Given the description of an element on the screen output the (x, y) to click on. 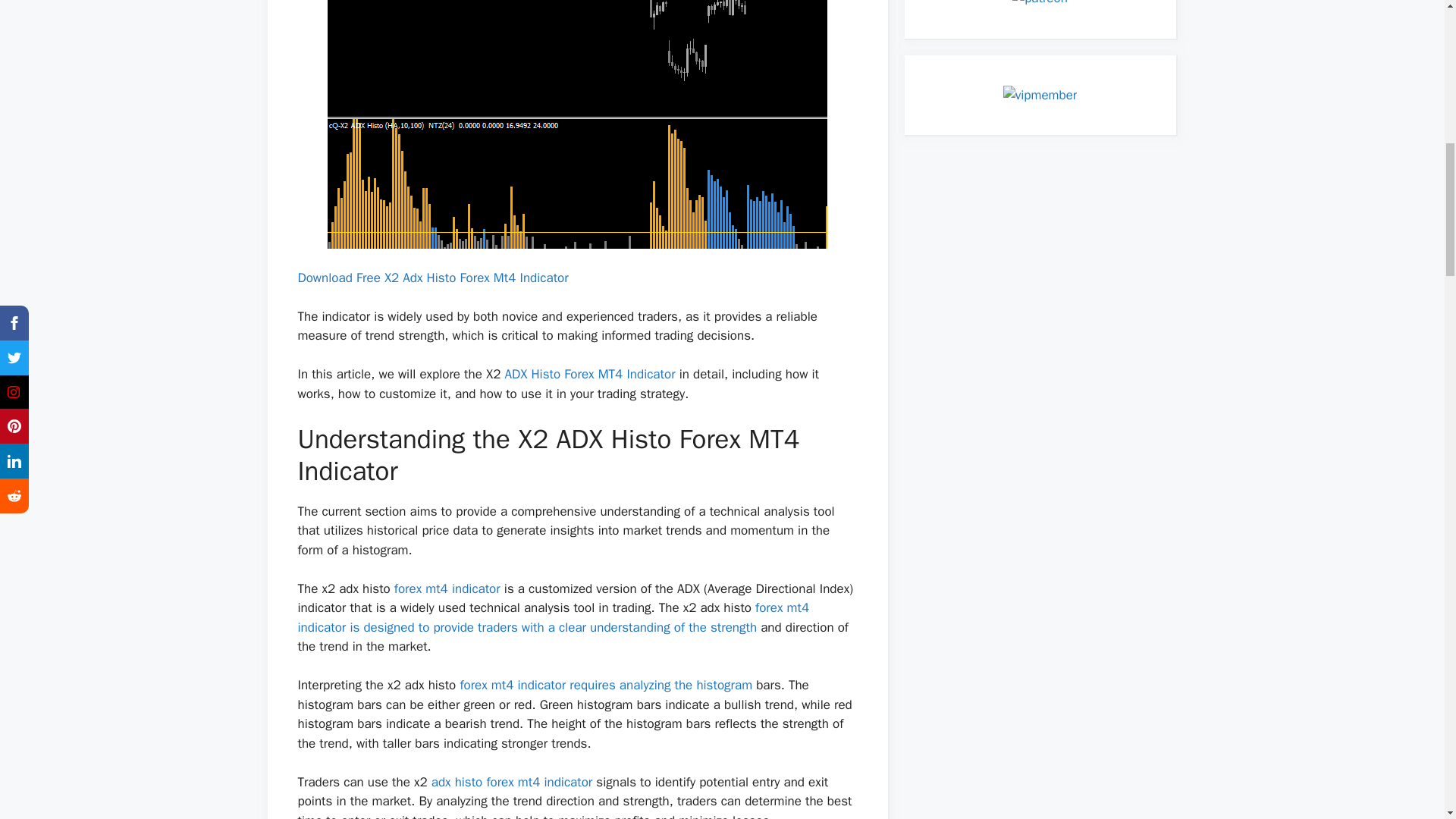
forex mt4 indicator (447, 588)
forex mt4 indicator requires analyzing the histogram (606, 684)
adx histo forex mt4 indicator (511, 781)
ADX Histo Forex MT4 Indicator (589, 374)
Download Free X2 Adx Histo Forex Mt4 Indicator (432, 277)
